Given the description of an element on the screen output the (x, y) to click on. 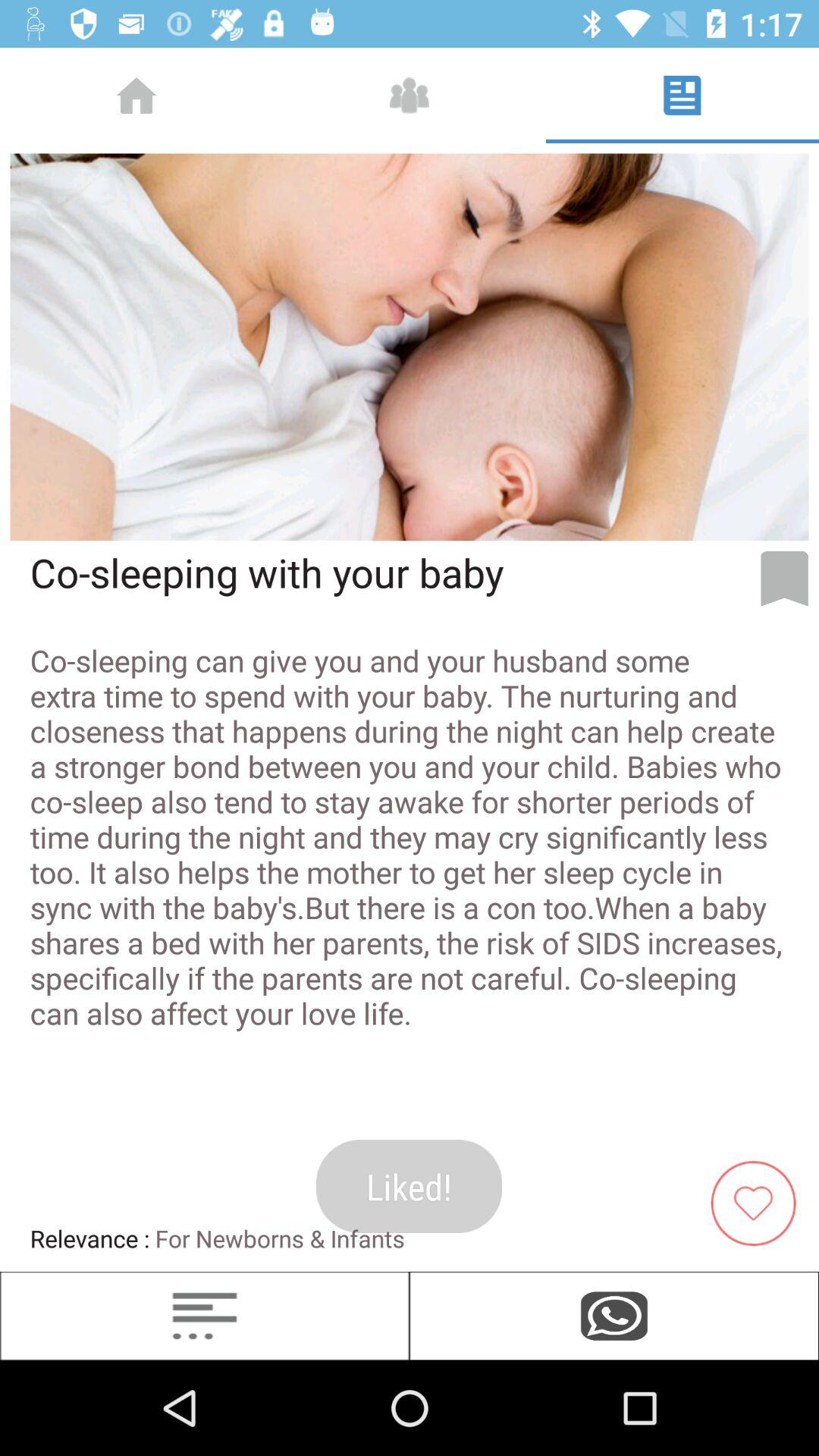
launch icon below the for newborns & infants (614, 1315)
